Given the description of an element on the screen output the (x, y) to click on. 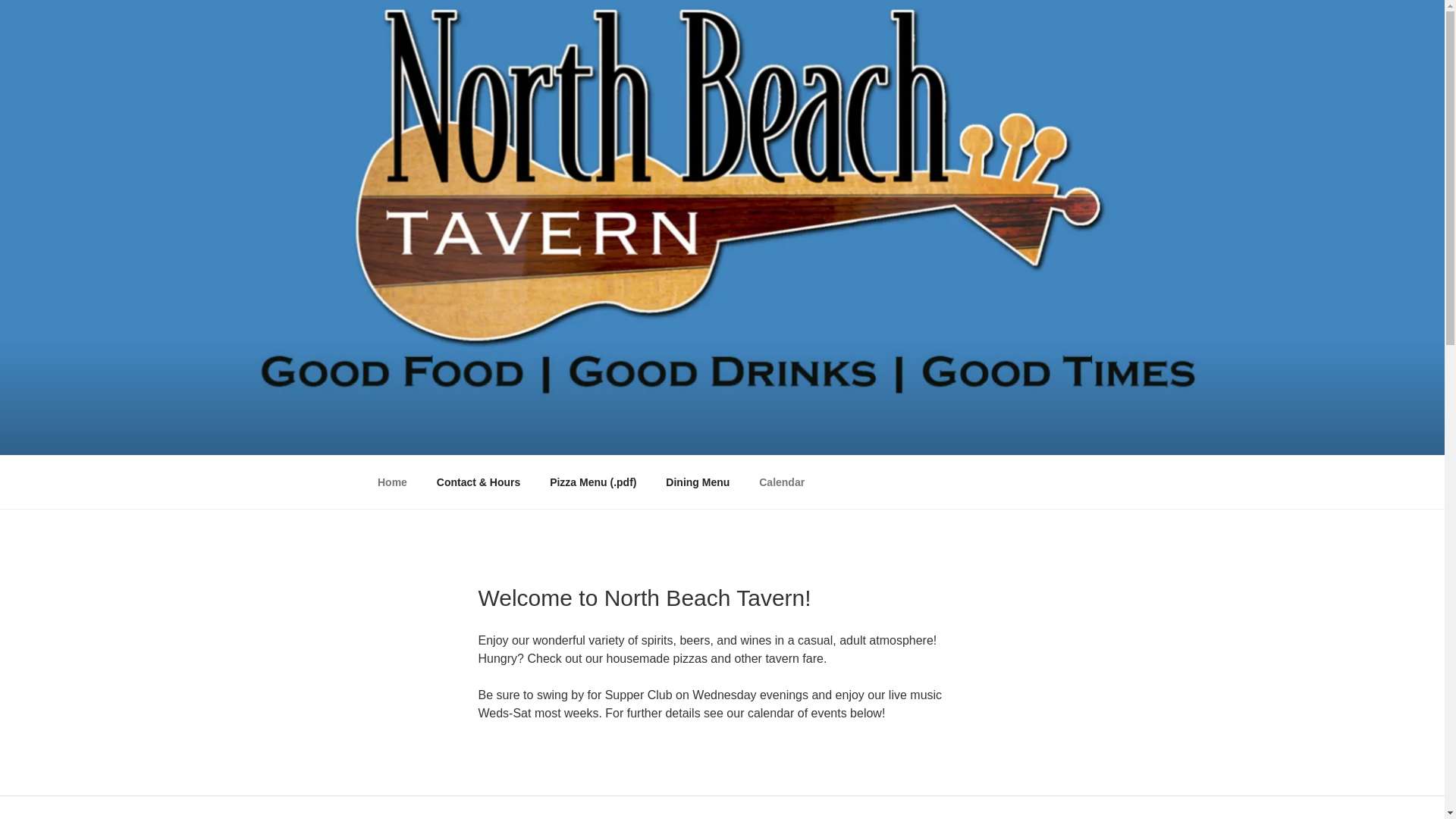
Calendar (781, 482)
Scroll down to content (1082, 481)
Dining Menu (697, 482)
Scroll down to content (1082, 481)
Home (392, 482)
